Given the description of an element on the screen output the (x, y) to click on. 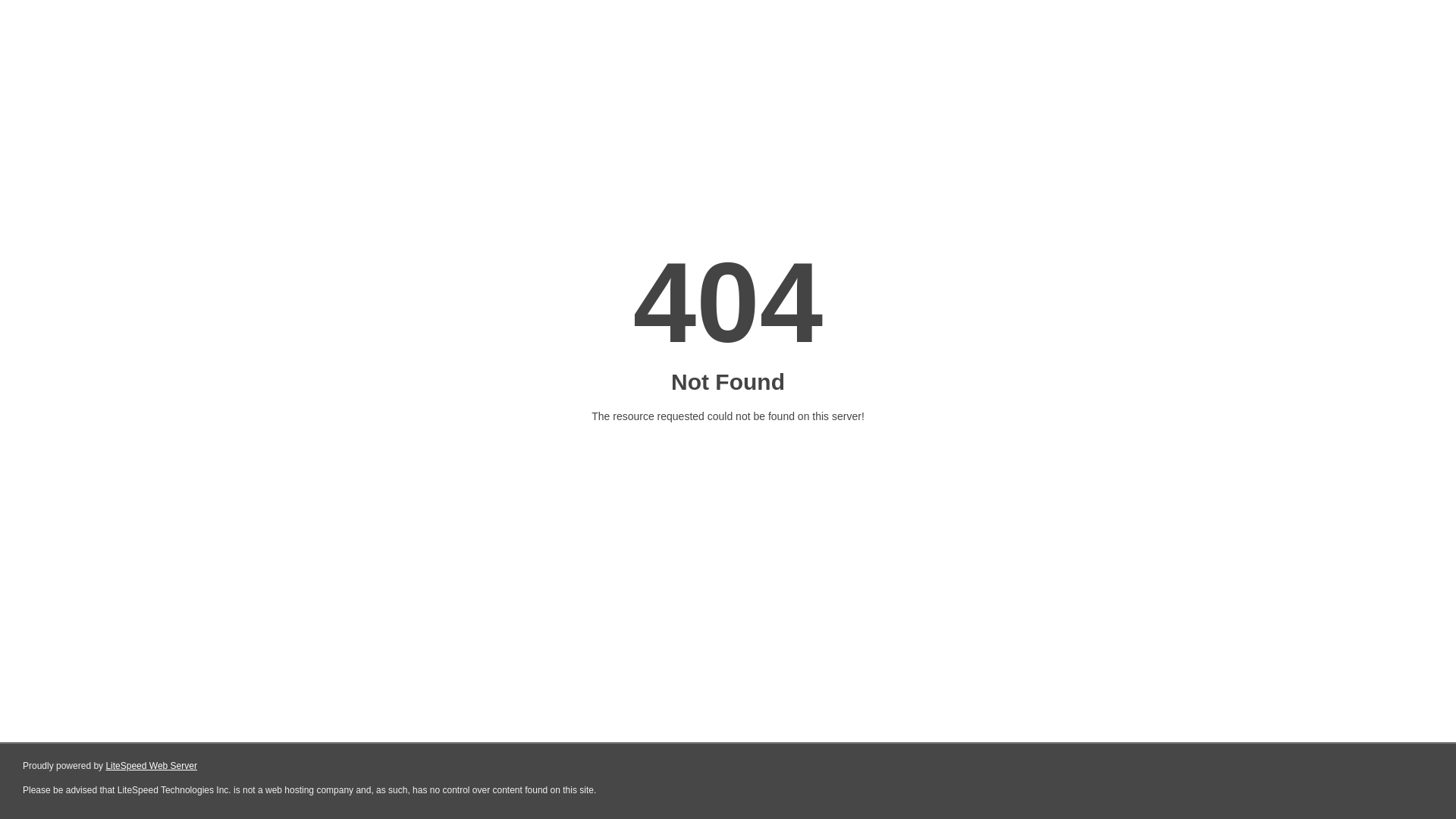
LiteSpeed Web Server Element type: text (151, 765)
